Given the description of an element on the screen output the (x, y) to click on. 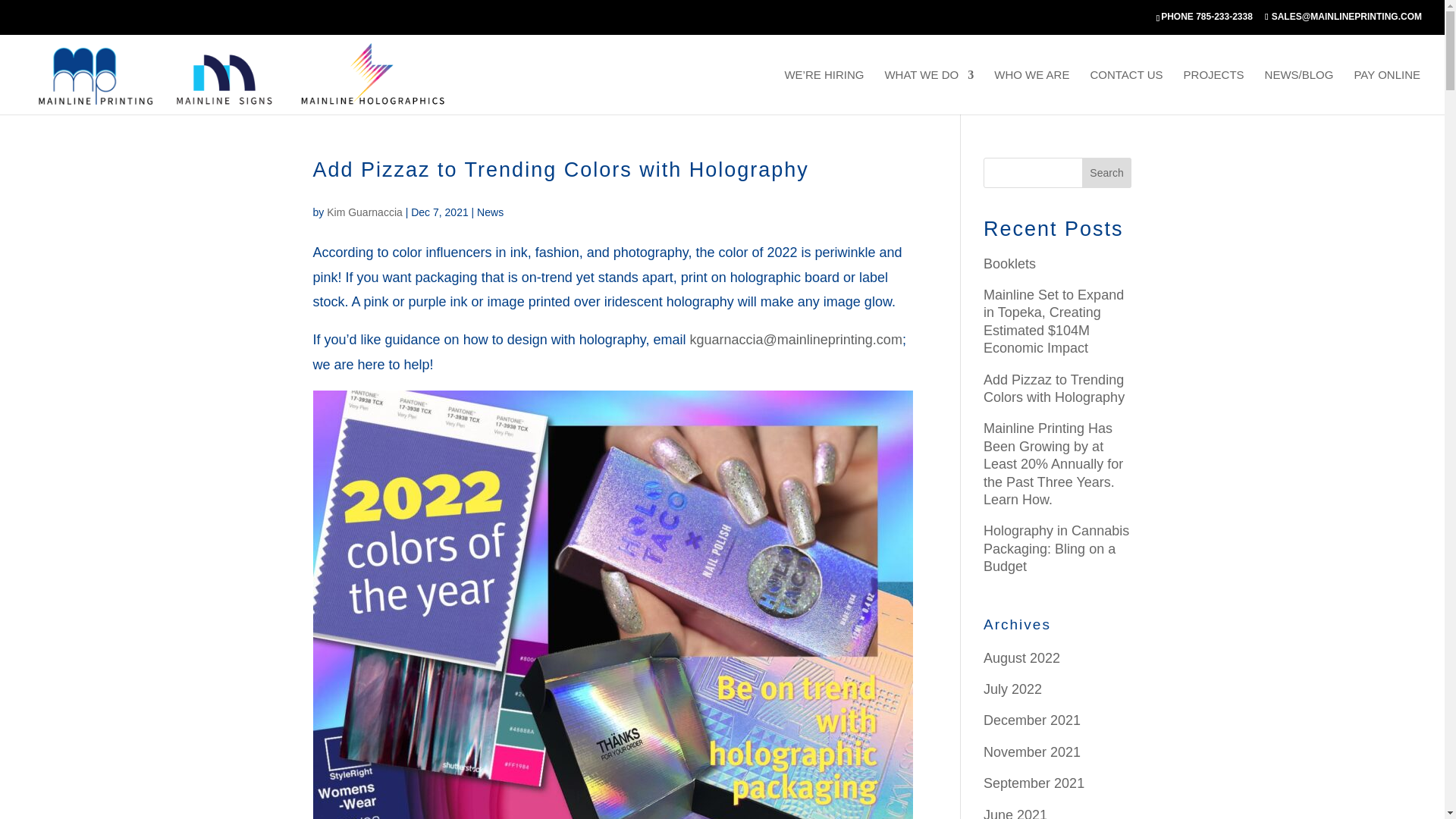
WHO WE ARE (1031, 91)
Kim Guarnaccia (364, 212)
CONTACT US (1125, 91)
Add Pizzaz to Trending Colors with Holography (560, 169)
PAY ONLINE (1387, 91)
Posts by Kim Guarnaccia (364, 212)
PROJECTS (1213, 91)
Search (1106, 173)
WHAT WE DO (928, 91)
